Given the description of an element on the screen output the (x, y) to click on. 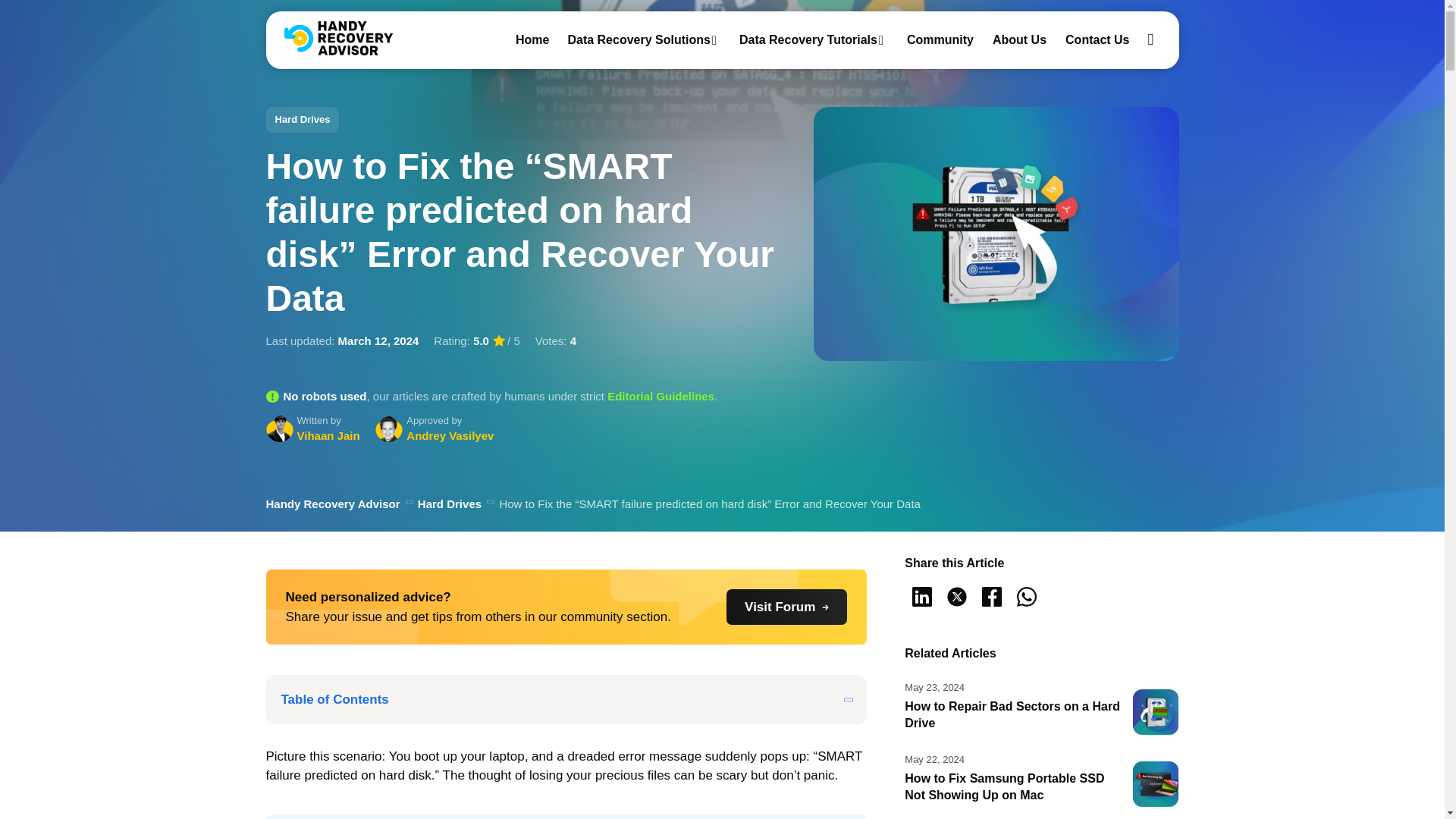
Vihaan Jain (280, 428)
Data Recovery Solutions (638, 39)
Data Recovery Tutorials (808, 39)
Home (531, 39)
